Given the description of an element on the screen output the (x, y) to click on. 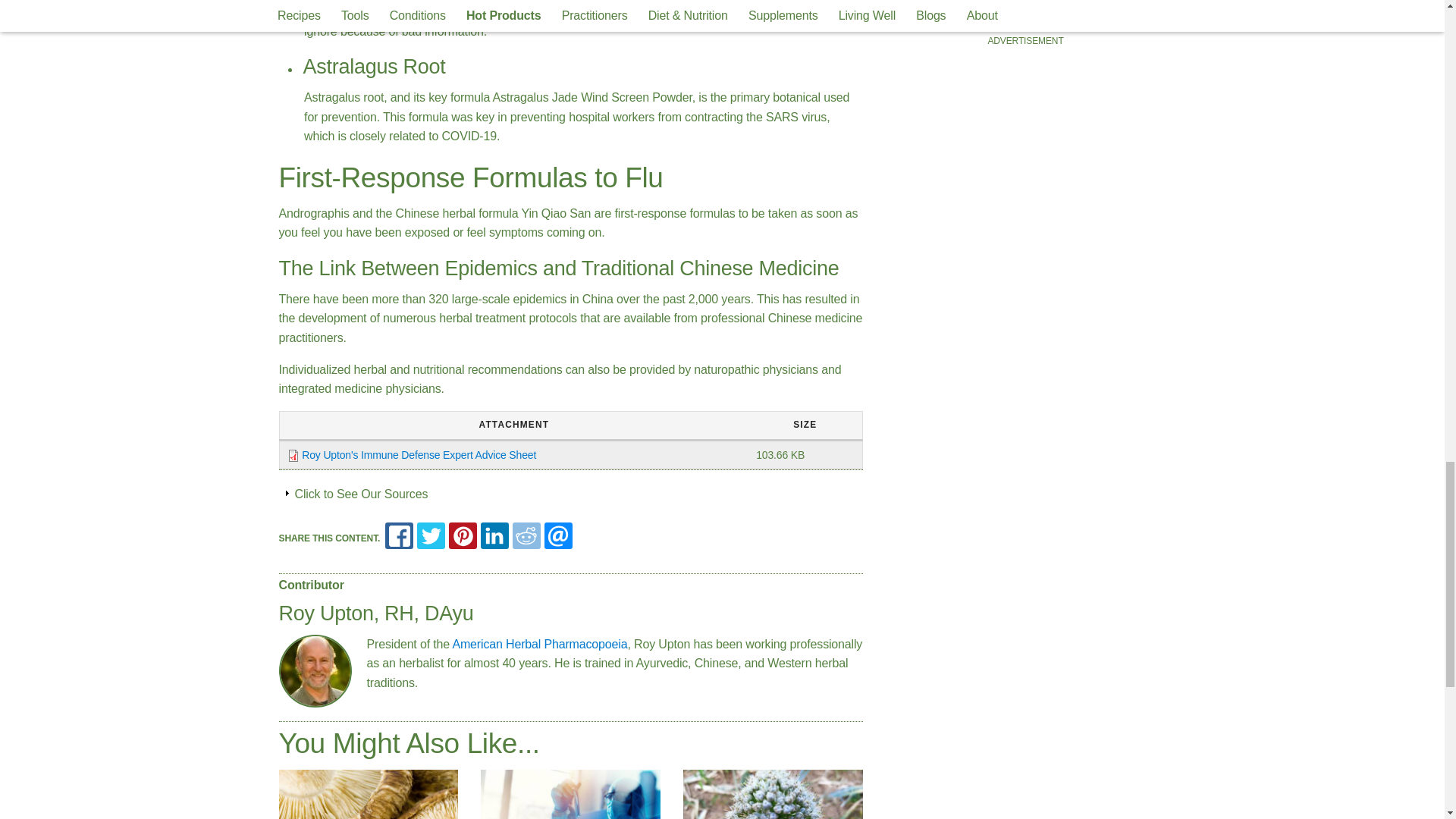
tfl-roy-upton-immune-defense.pdf (418, 454)
Experts Urge Caution with Oleander Extract (570, 794)
AHCC Mushroom Extract for The Flu (368, 794)
